Given the description of an element on the screen output the (x, y) to click on. 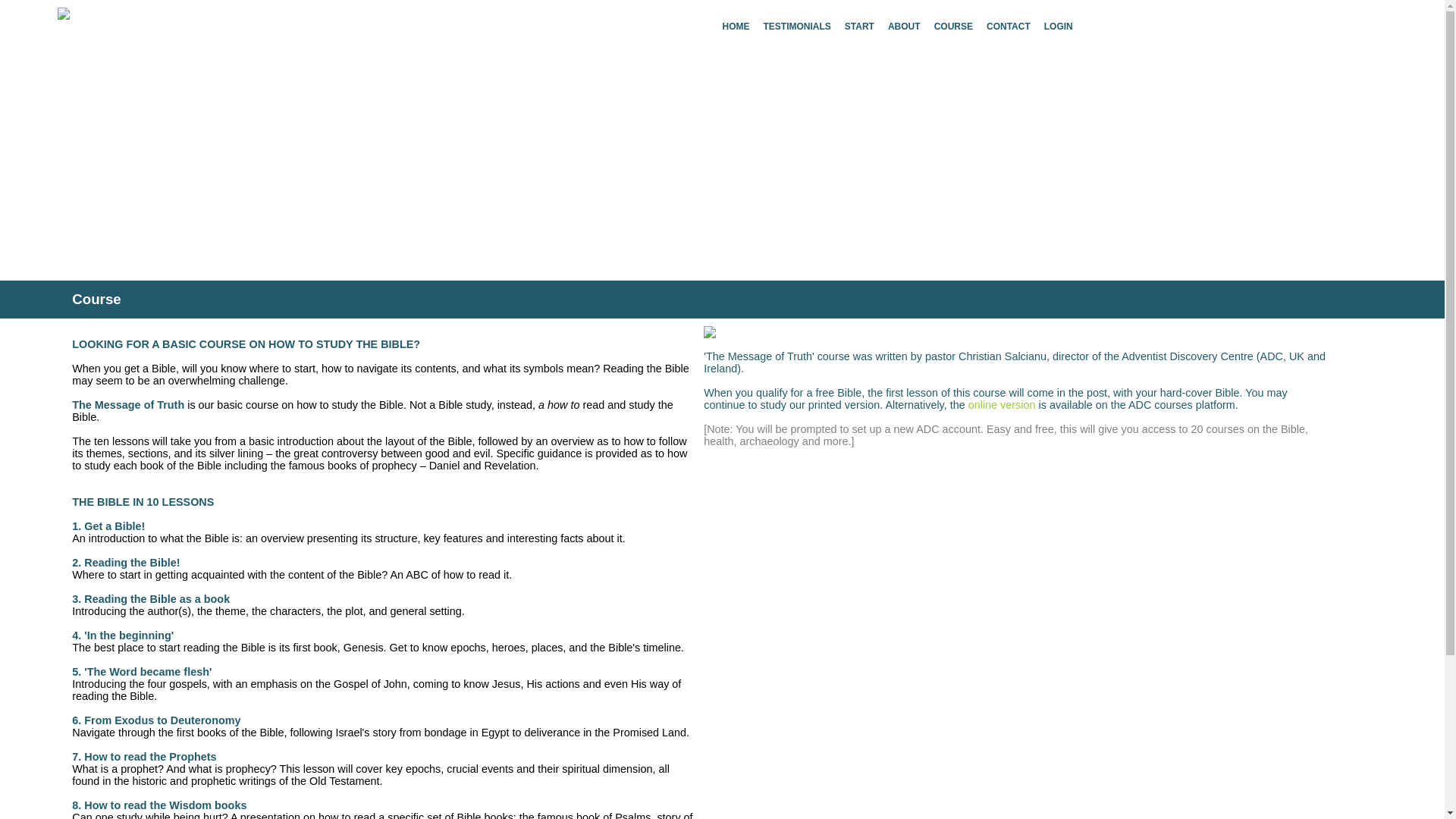
HOME (735, 26)
START (859, 26)
TESTIMONIALS (795, 26)
CONTACT (1008, 26)
COURSE (953, 26)
online version (1001, 404)
ABOUT (904, 26)
LOGIN (1058, 26)
